Given the description of an element on the screen output the (x, y) to click on. 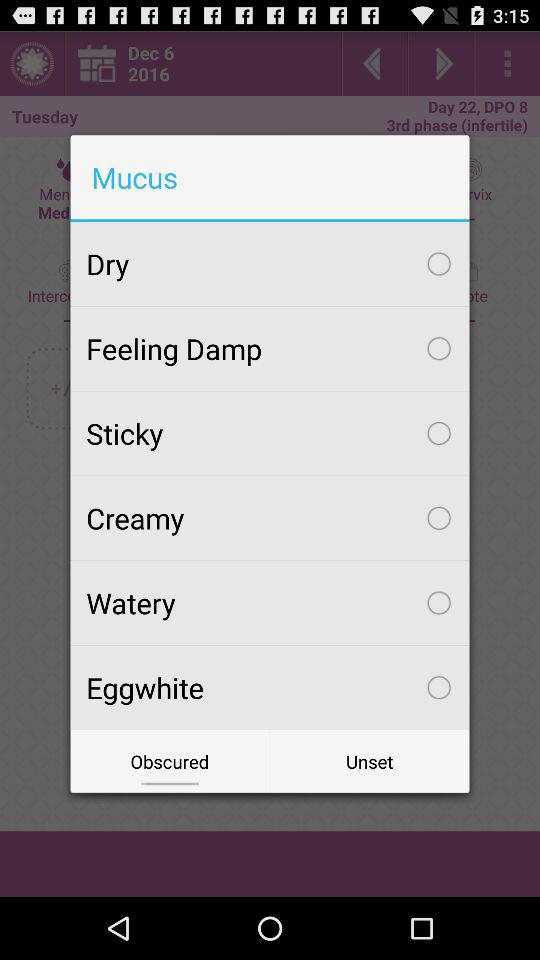
tap feeling damp checkbox (269, 348)
